Given the description of an element on the screen output the (x, y) to click on. 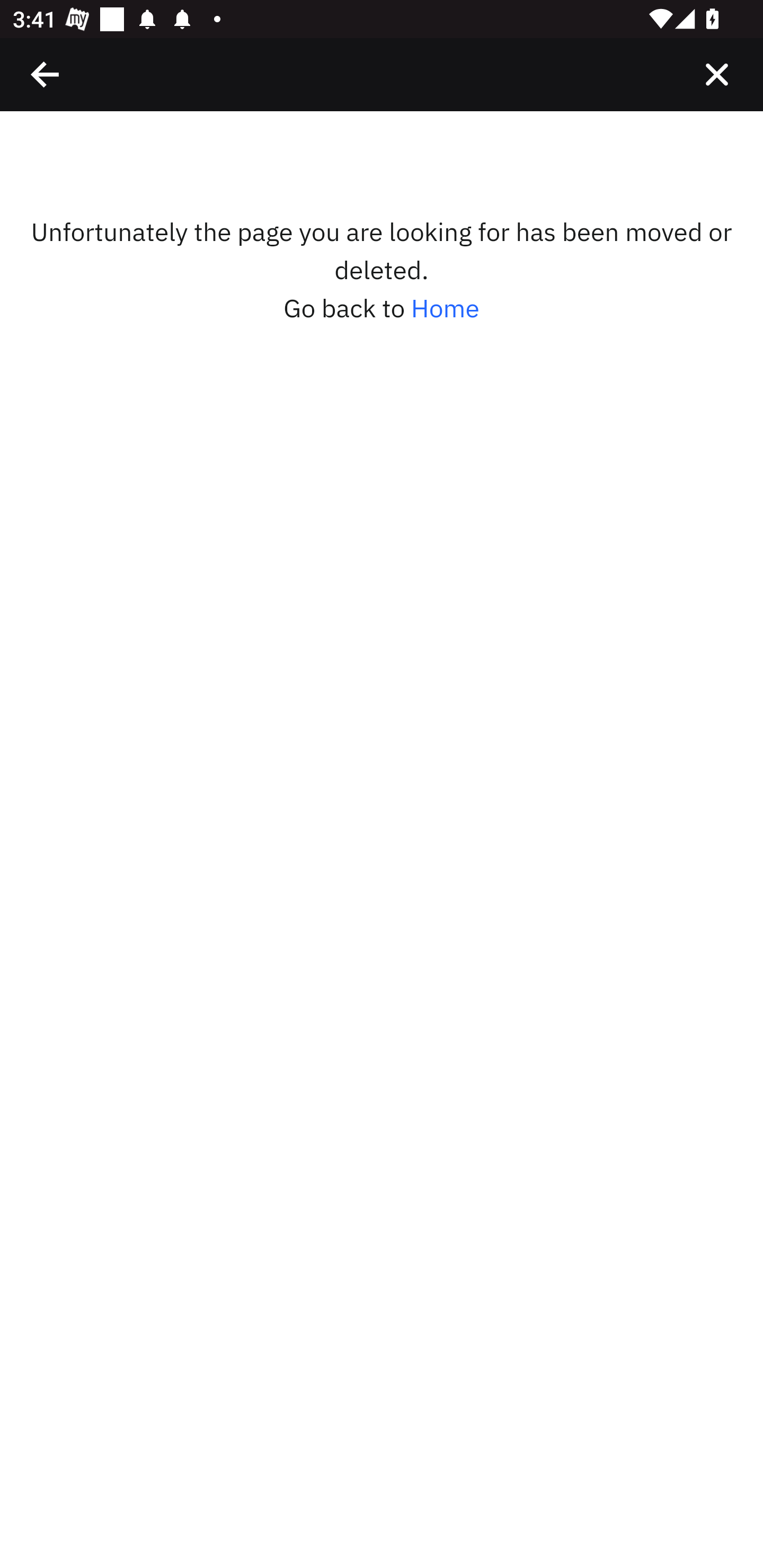
 (46, 74)
 (716, 74)
Home (444, 308)
